Given the description of an element on the screen output the (x, y) to click on. 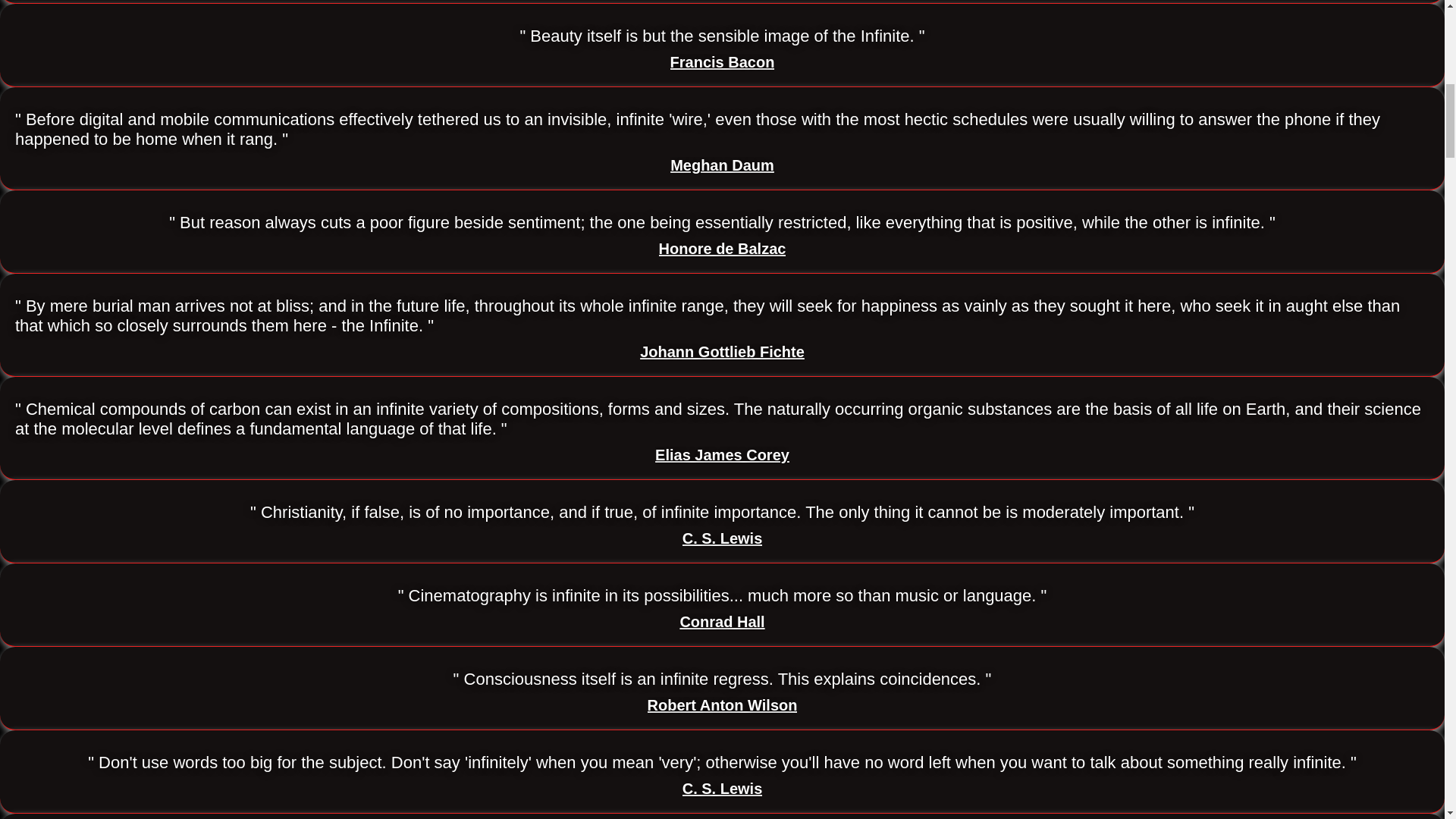
Honore de Balzac (722, 248)
Meghan Daum (721, 165)
C. S. Lewis (722, 788)
C. S. Lewis (722, 538)
Francis Bacon (721, 62)
Robert Anton Wilson (722, 705)
Johann Gottlieb Fichte (722, 352)
Elias James Corey (722, 455)
